Given the description of an element on the screen output the (x, y) to click on. 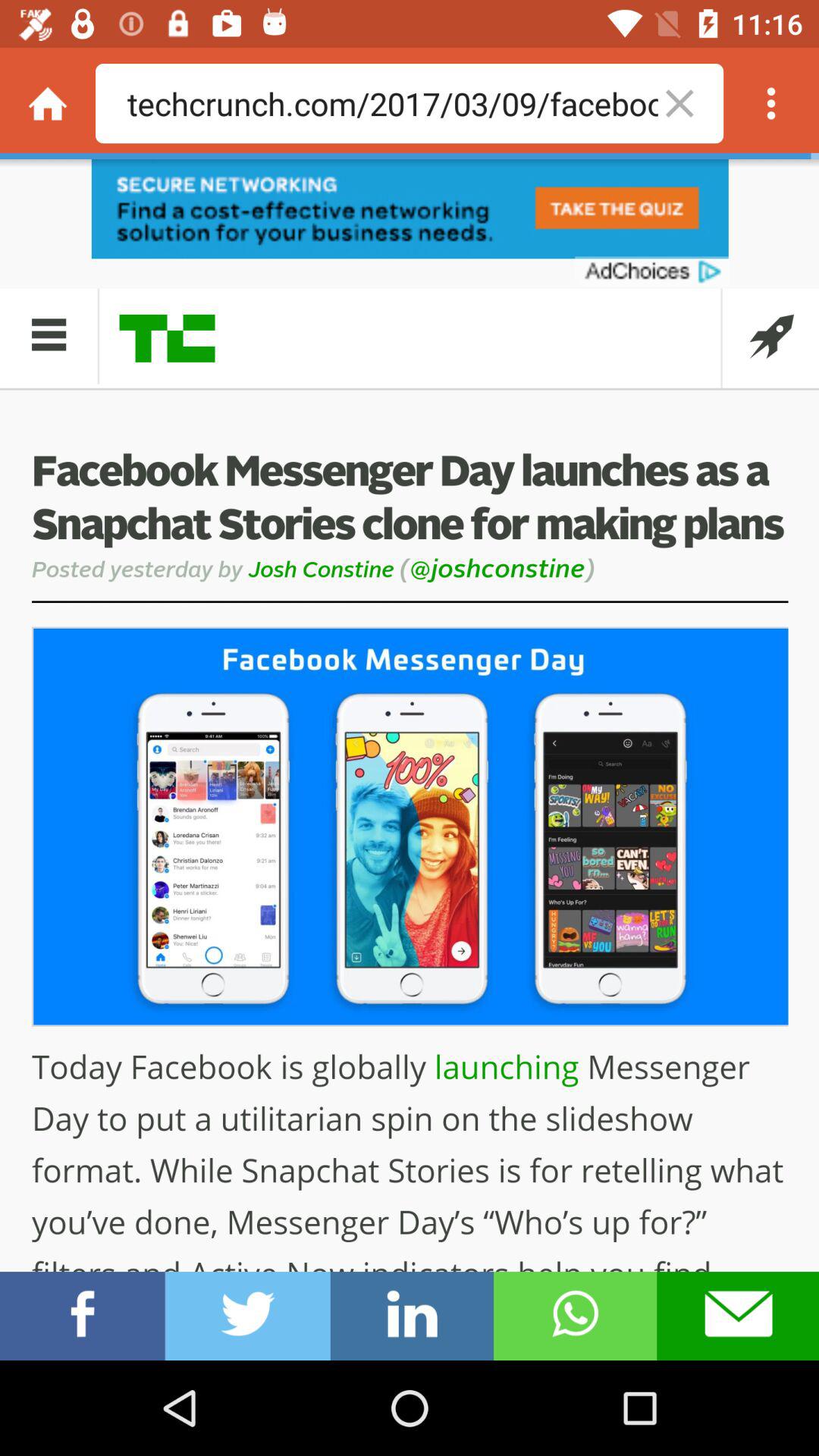
go to home screen (47, 103)
